Given the description of an element on the screen output the (x, y) to click on. 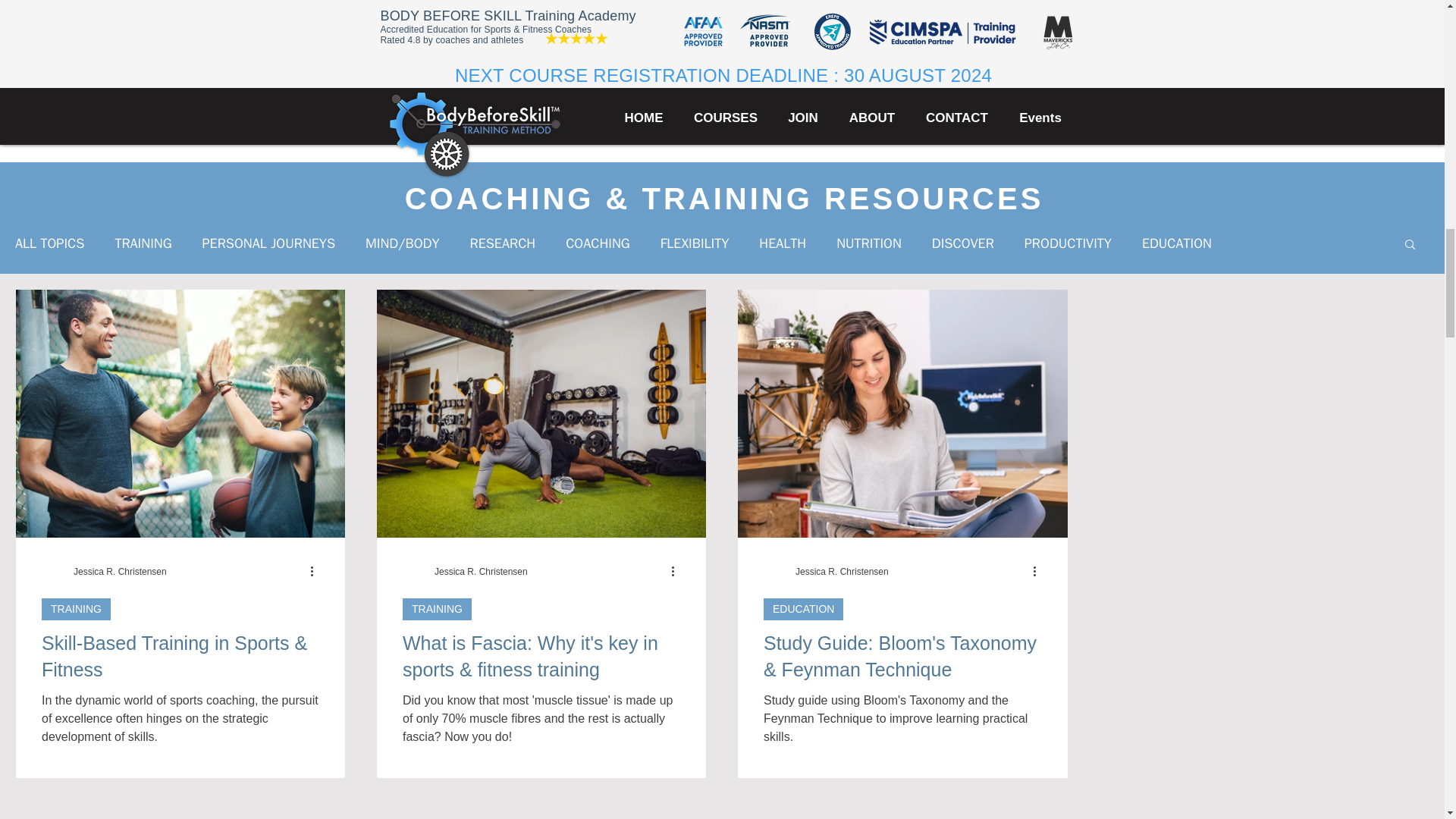
ALL TOPICS (49, 243)
NUTRITION (868, 243)
Jessica R. Christensen (480, 571)
DISCOVER (962, 243)
Jessica R. Christensen (480, 571)
EDUCATION (1176, 243)
PERSONAL JOURNEYS (269, 243)
FLEXIBILITY (695, 243)
RESEARCH (502, 243)
HEALTH (782, 243)
